Given the description of an element on the screen output the (x, y) to click on. 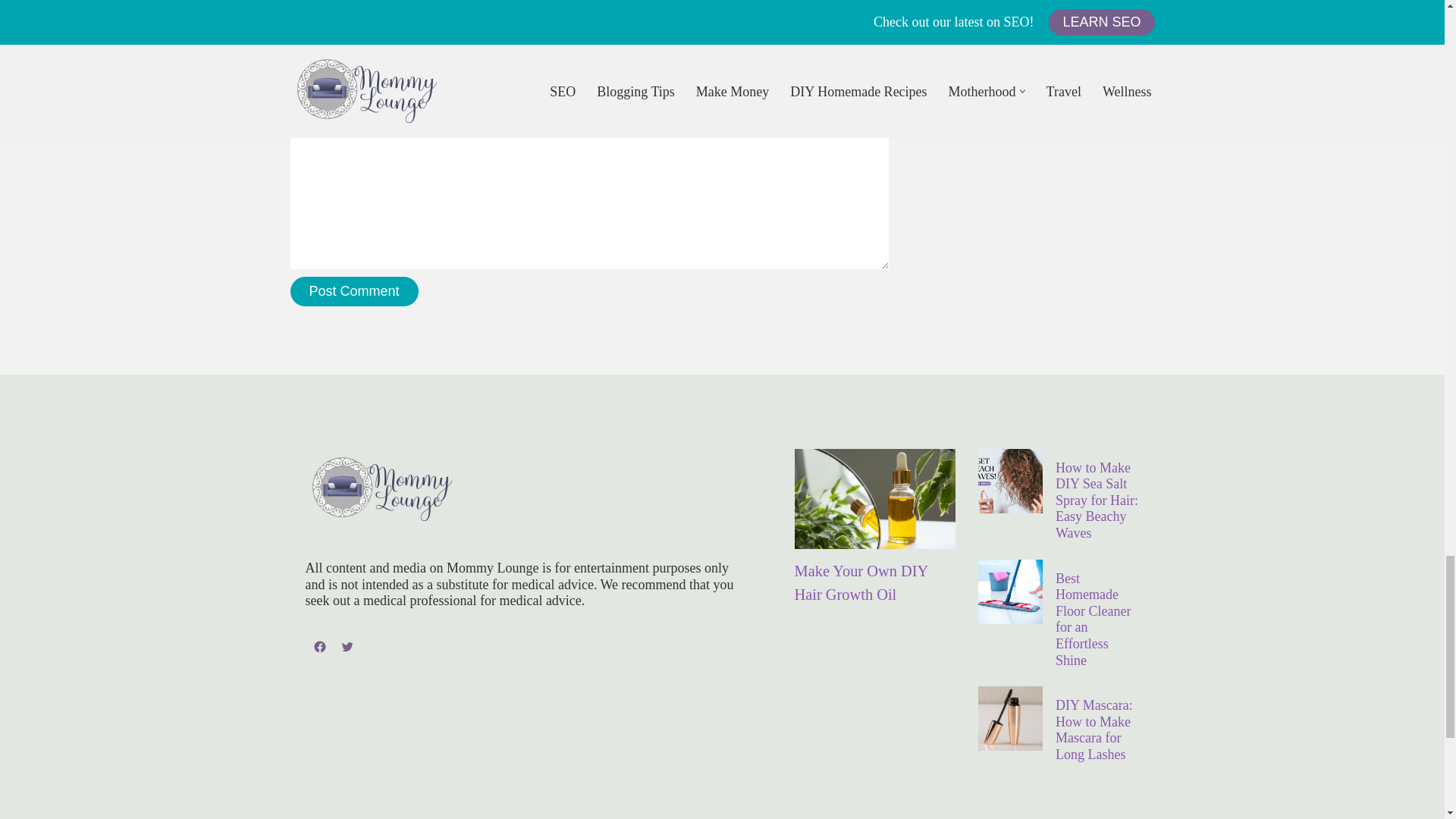
Post Comment (353, 291)
